Given the description of an element on the screen output the (x, y) to click on. 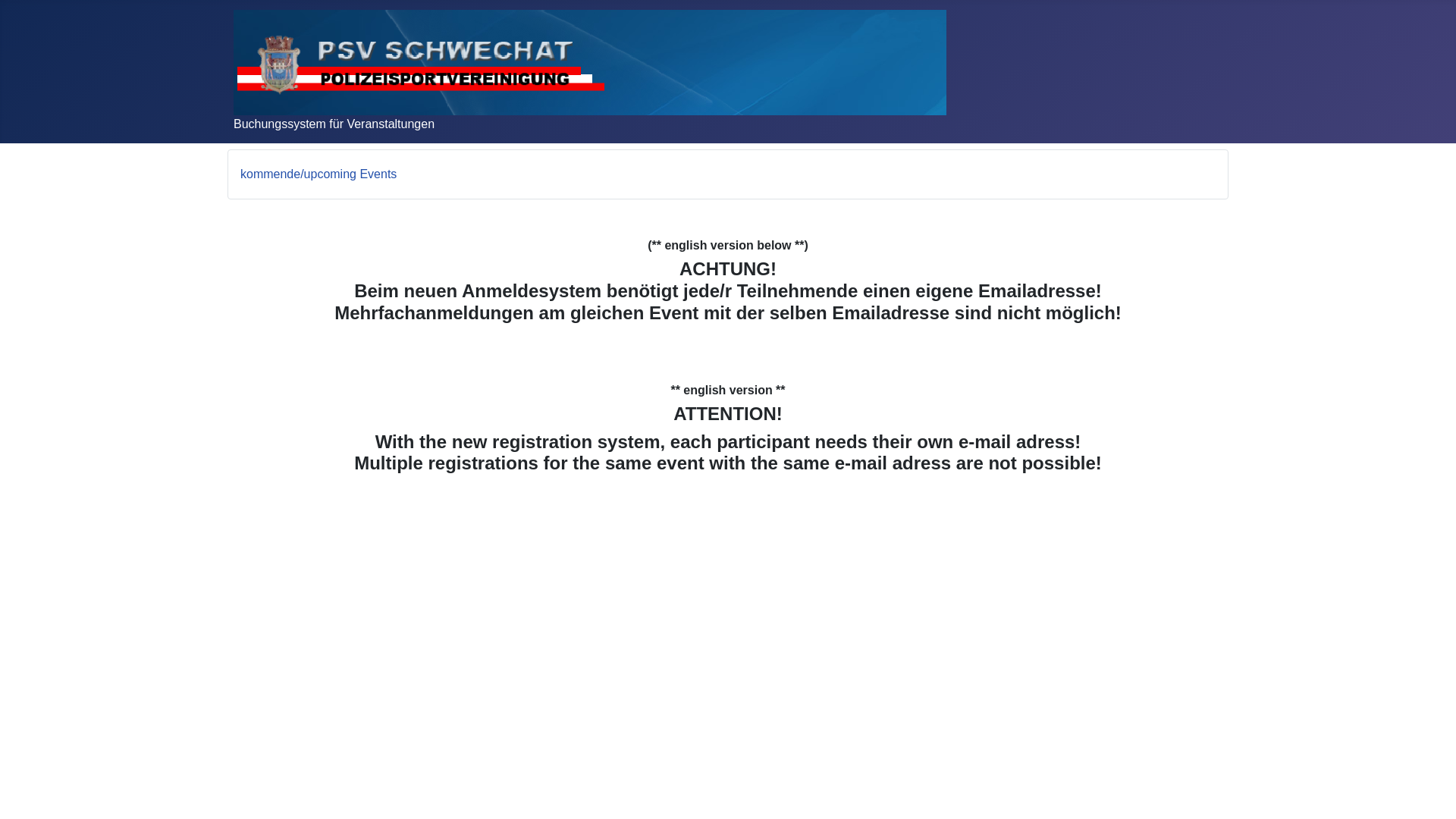
kommende/upcoming Events Element type: text (318, 173)
